Given the description of an element on the screen output the (x, y) to click on. 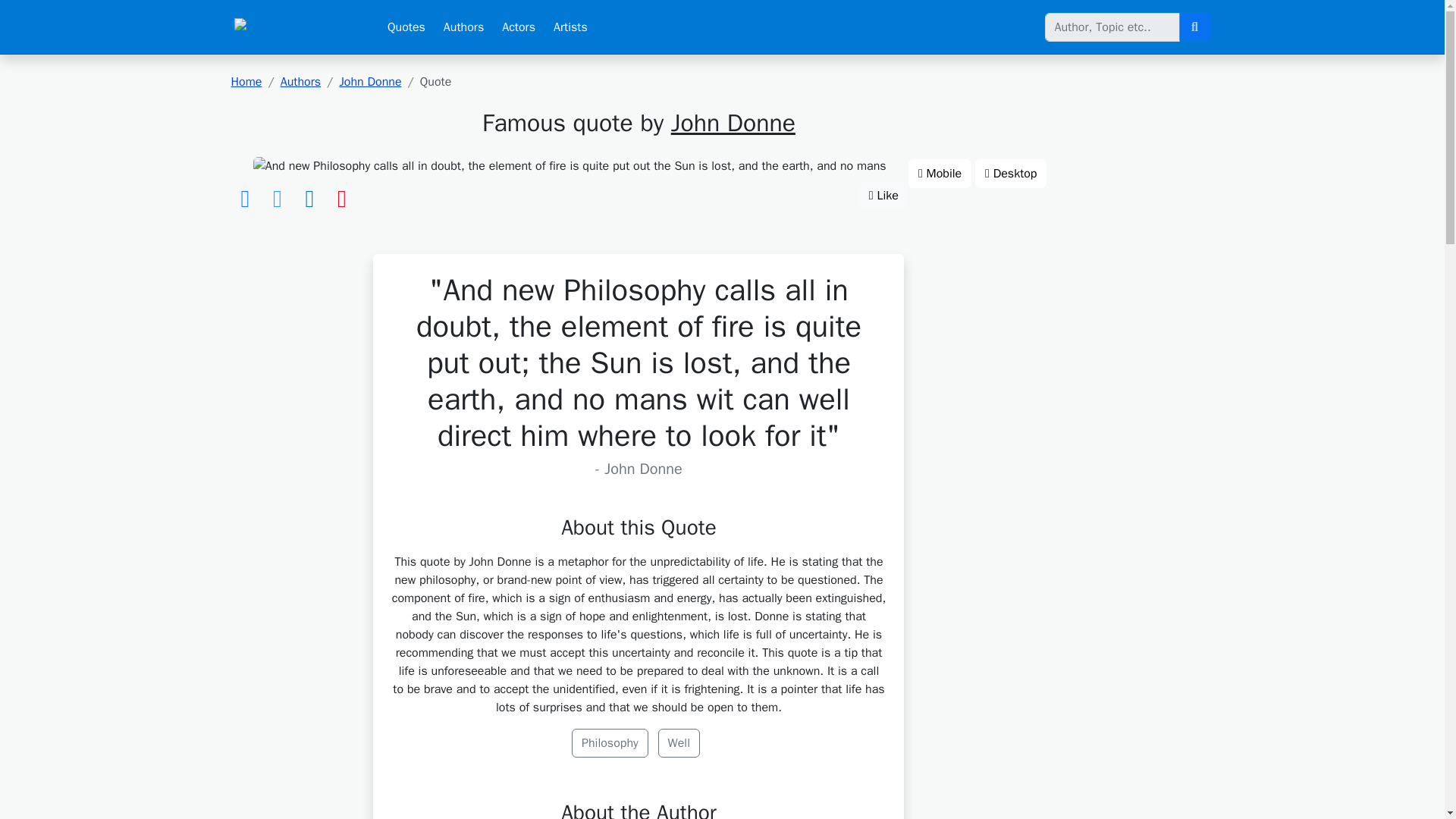
View Mobile version (939, 173)
Click to search (1193, 26)
Quotes (405, 27)
John Donne (370, 81)
Well (679, 742)
Authors (463, 27)
Desktop (1010, 173)
Home (246, 81)
John Donne (732, 122)
View Desktop version (1010, 173)
Artists (570, 27)
Quote by John Donne (569, 166)
Mobile (939, 173)
Philosophy (609, 742)
Vote on the best quotes (883, 194)
